Given the description of an element on the screen output the (x, y) to click on. 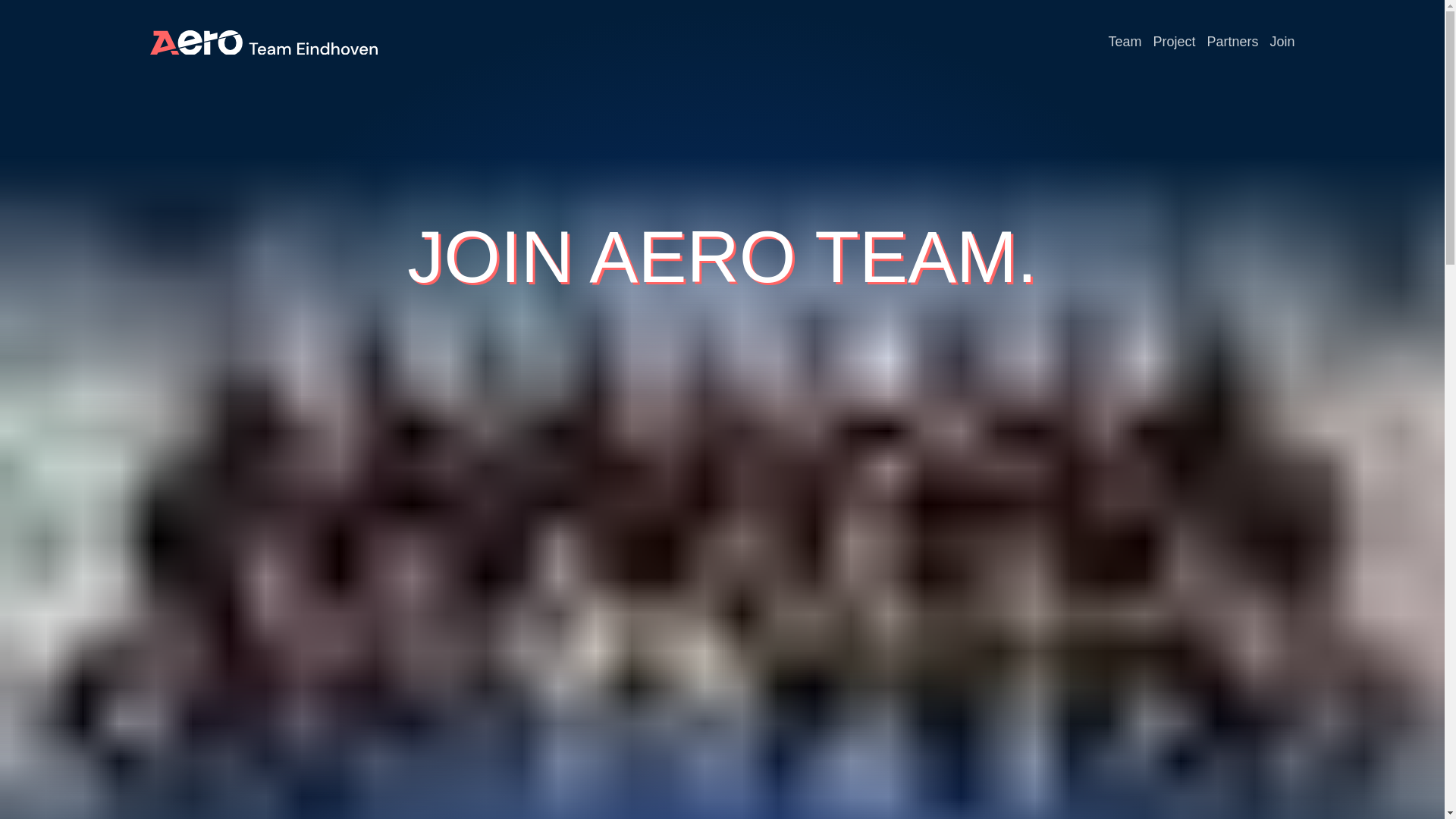
Project (1174, 41)
Partners (1232, 41)
Team (1124, 41)
Join (1281, 41)
